Given the description of an element on the screen output the (x, y) to click on. 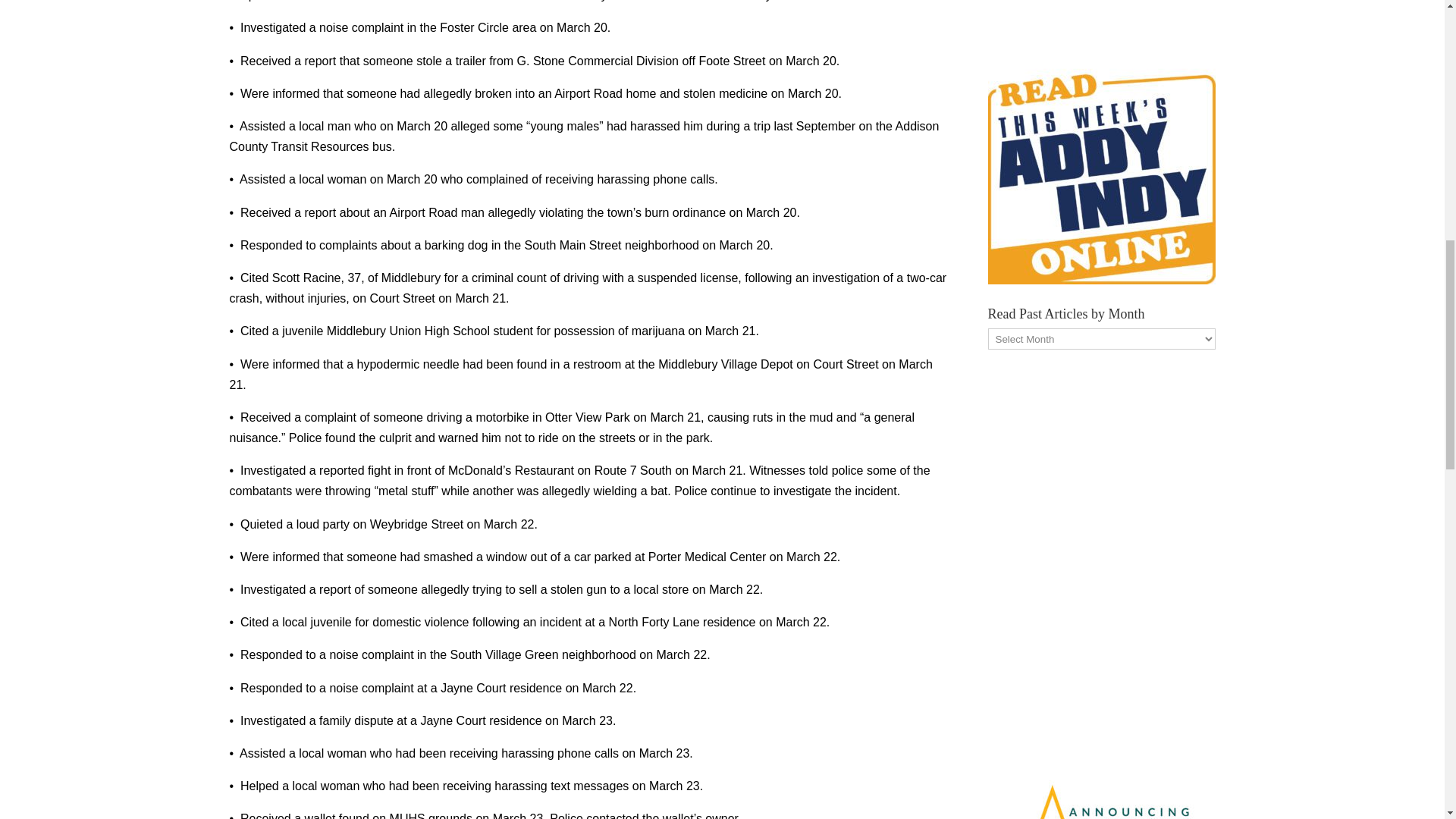
3rd party ad content (1100, 17)
3rd party ad content (1100, 561)
